Given the description of an element on the screen output the (x, y) to click on. 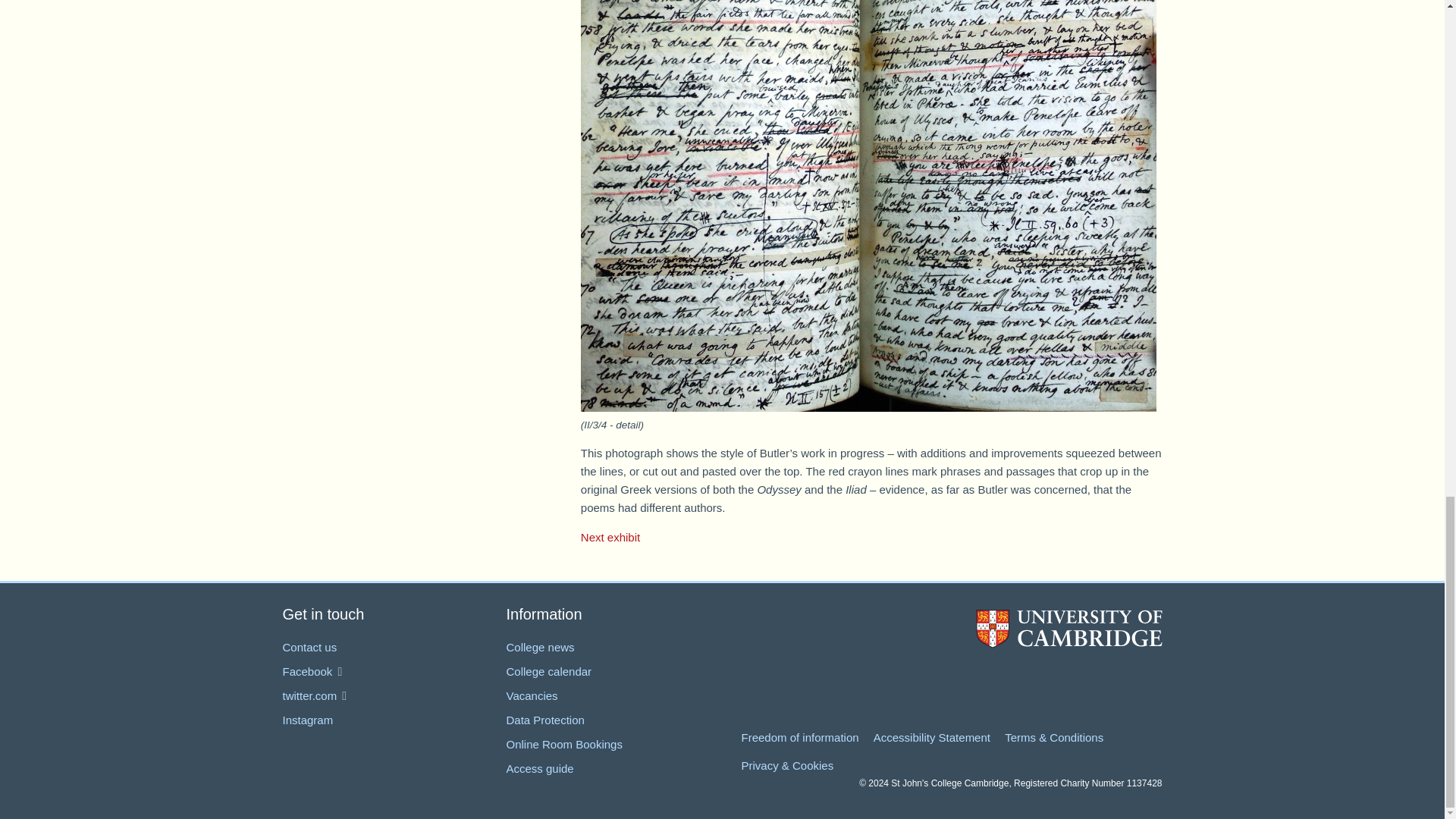
College calendar (549, 671)
